Given the description of an element on the screen output the (x, y) to click on. 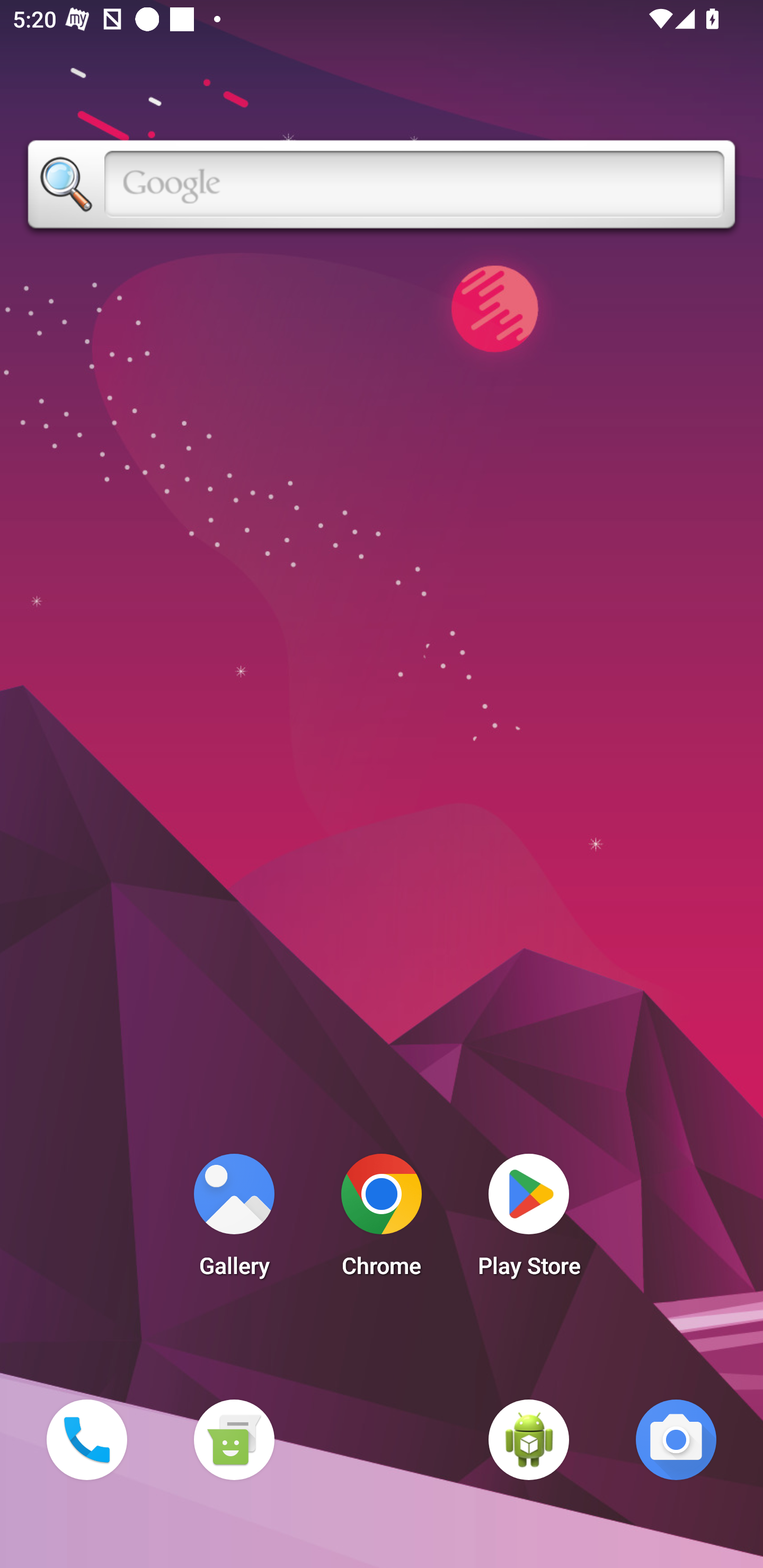
Gallery (233, 1220)
Chrome (381, 1220)
Play Store (528, 1220)
Phone (86, 1439)
Messaging (233, 1439)
WebView Browser Tester (528, 1439)
Camera (676, 1439)
